Given the description of an element on the screen output the (x, y) to click on. 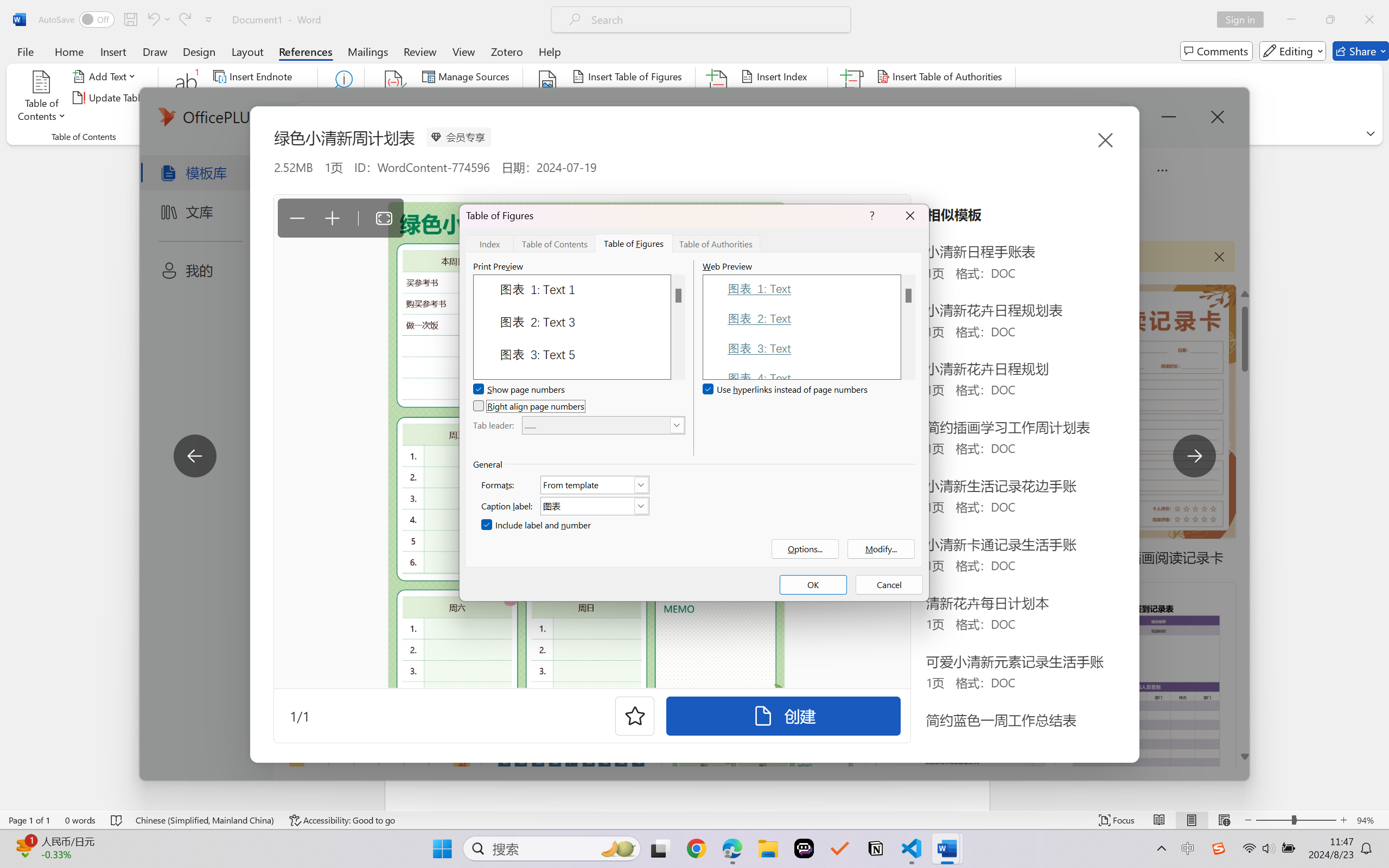
Index (489, 243)
Insert Caption... (547, 97)
Language Chinese (Simplified, Mainland China) (205, 819)
Insert Table of Figures... (628, 75)
Search (341, 97)
